Given the description of an element on the screen output the (x, y) to click on. 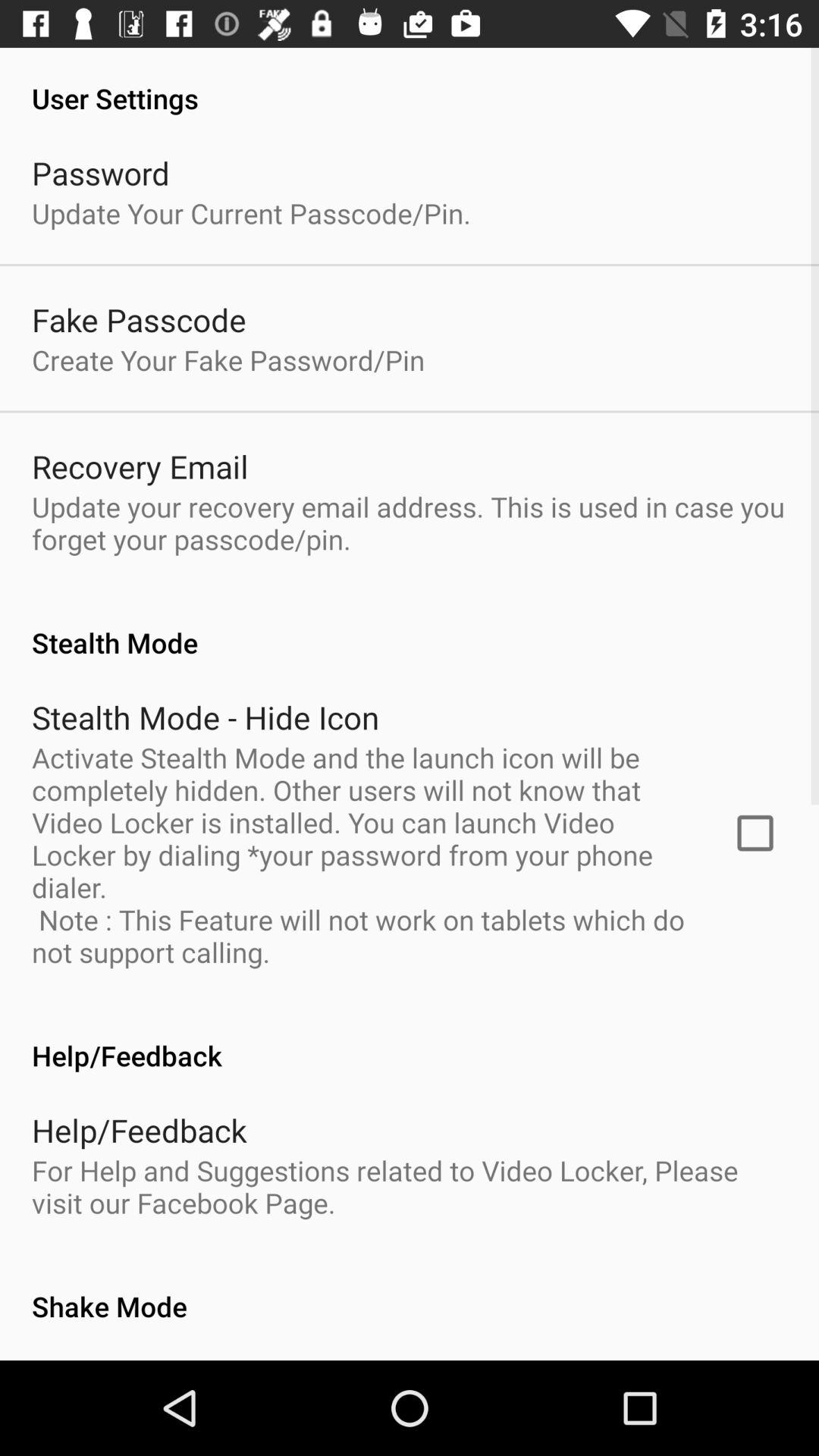
turn on item above the shake mode (409, 1186)
